Given the description of an element on the screen output the (x, y) to click on. 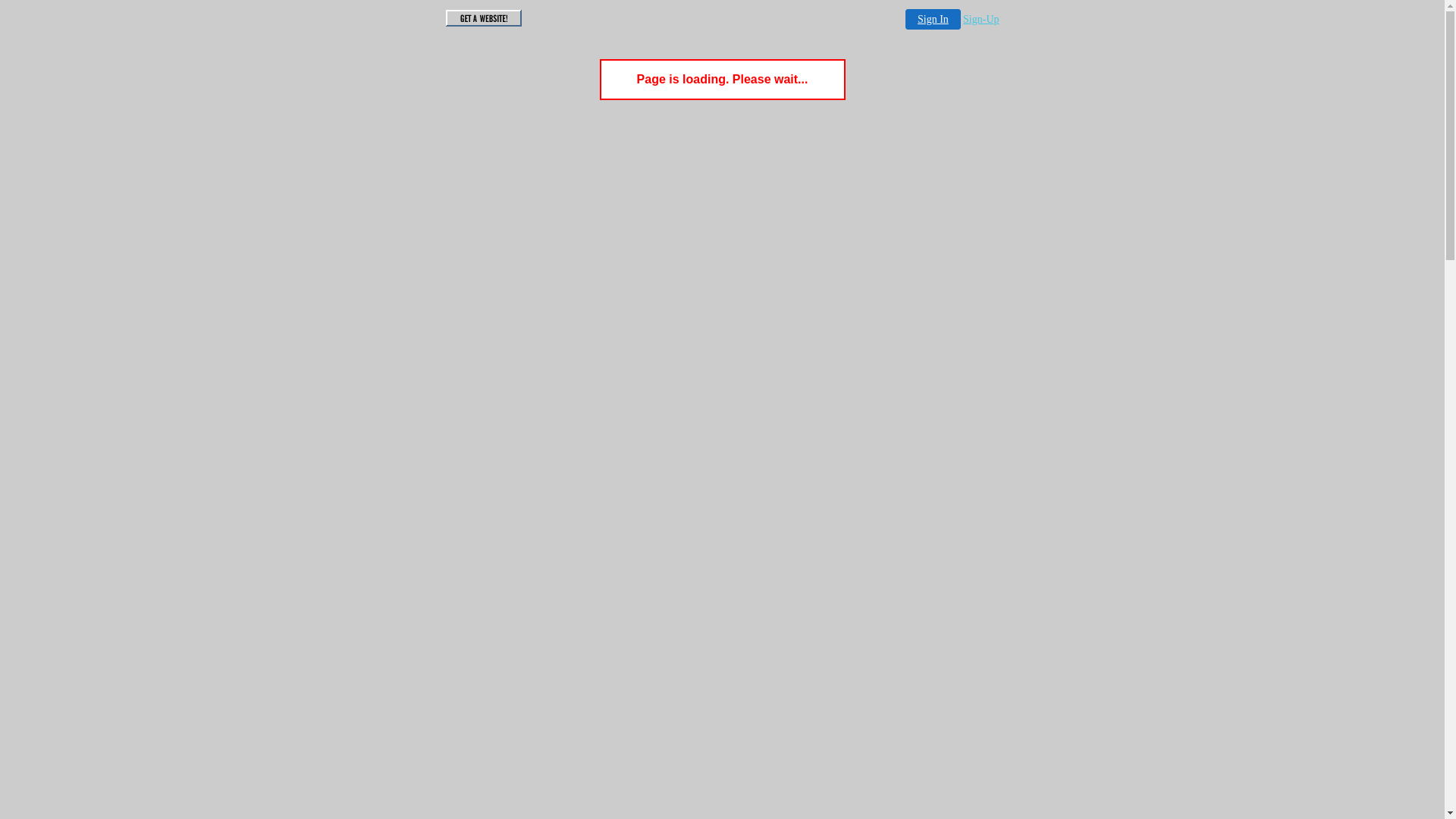
Sign In Element type: text (932, 19)
Sign-Up Element type: text (980, 19)
